Given the description of an element on the screen output the (x, y) to click on. 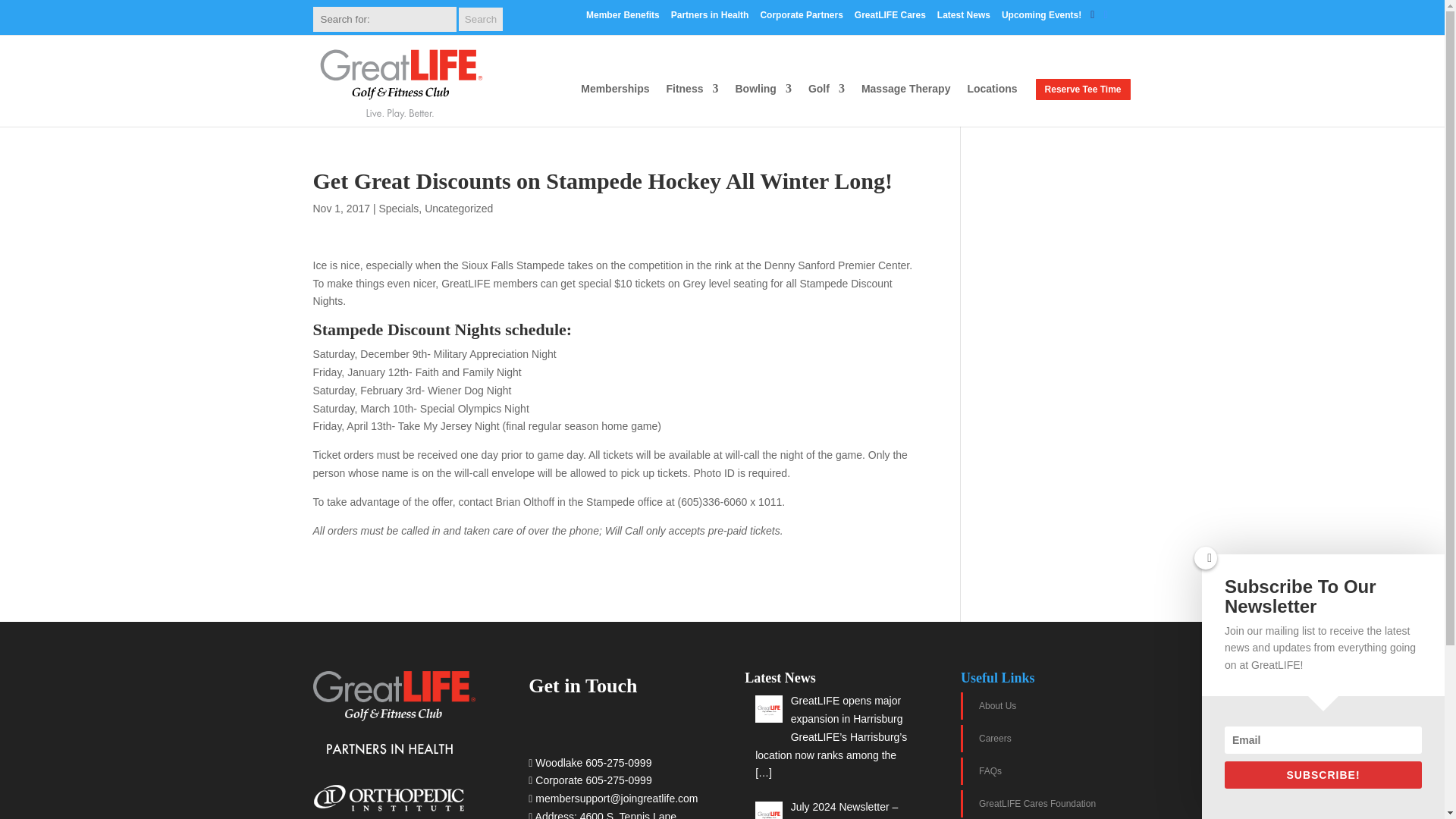
Latest News (963, 18)
GreatLIFE Cares (890, 18)
Partners in Health (710, 18)
Golf (826, 100)
Member Benefits (622, 18)
Corporate Partners (801, 18)
Search (480, 19)
Memberships (614, 100)
Bowling (762, 100)
Fitness (691, 100)
Search (480, 19)
Upcoming Events! (1041, 18)
